Given the description of an element on the screen output the (x, y) to click on. 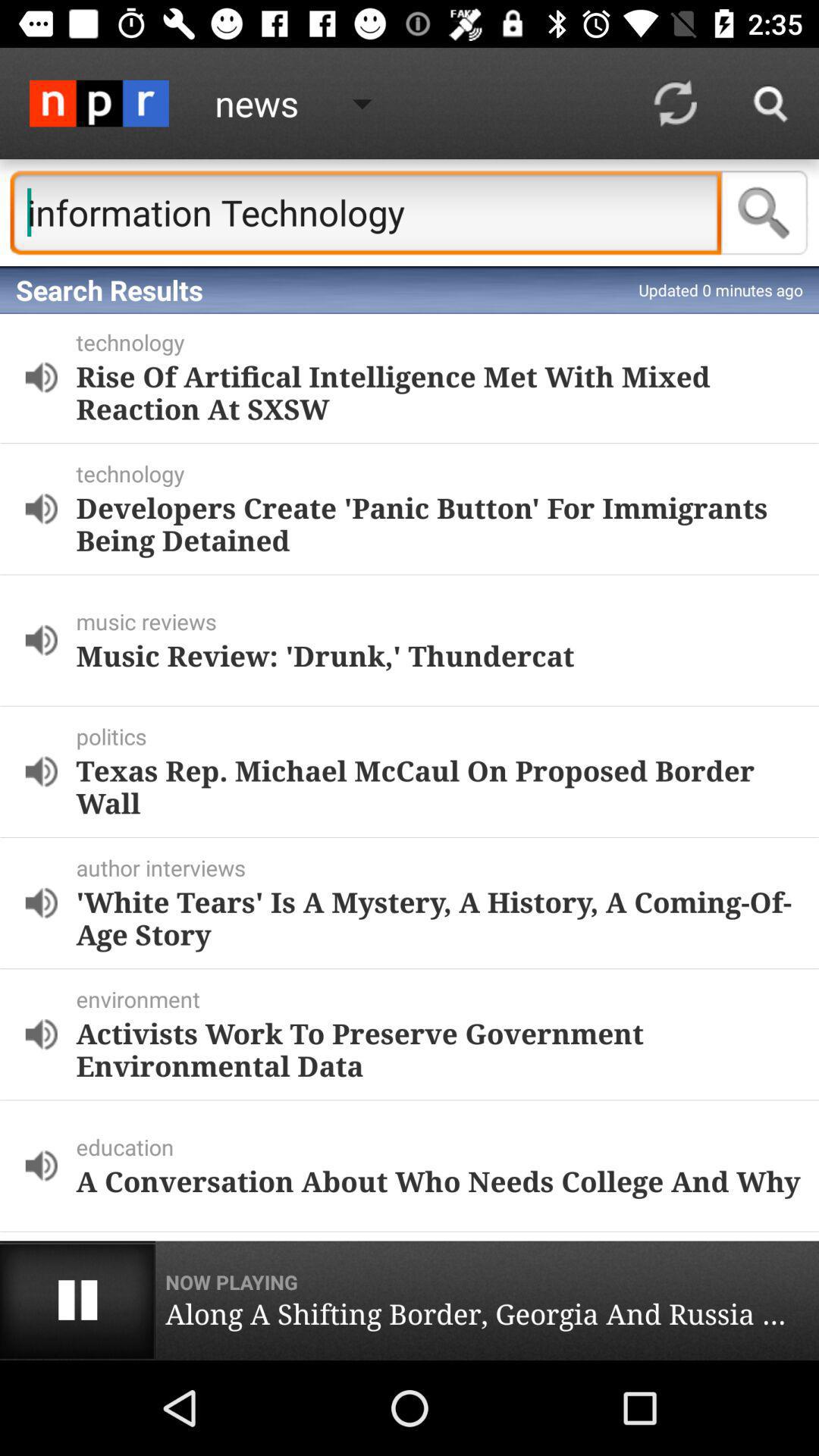
turn off item below the texas rep michael item (444, 867)
